Given the description of an element on the screen output the (x, y) to click on. 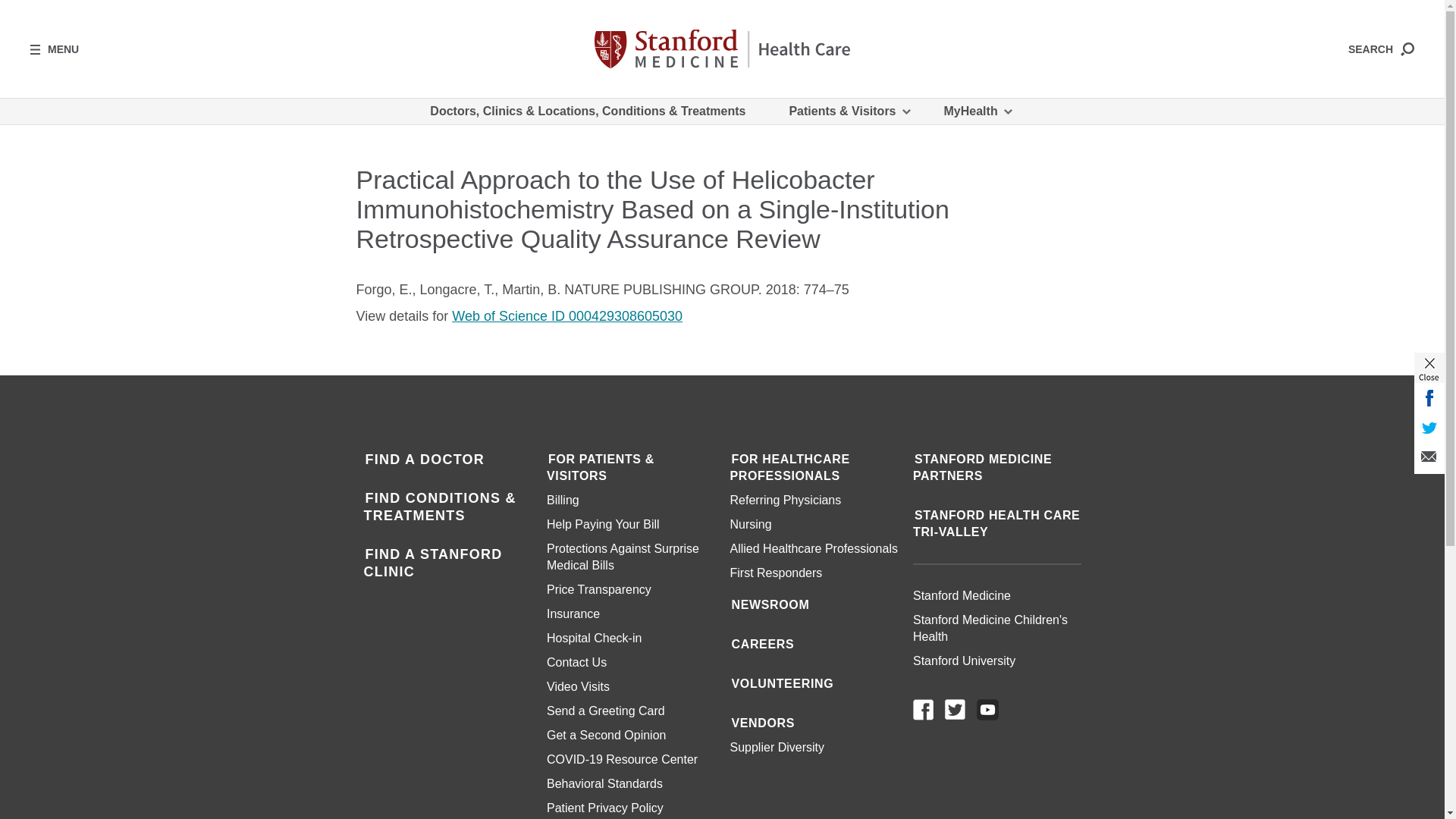
SEARCH (1380, 49)
MyHealth (976, 110)
MENU (54, 49)
